Given the description of an element on the screen output the (x, y) to click on. 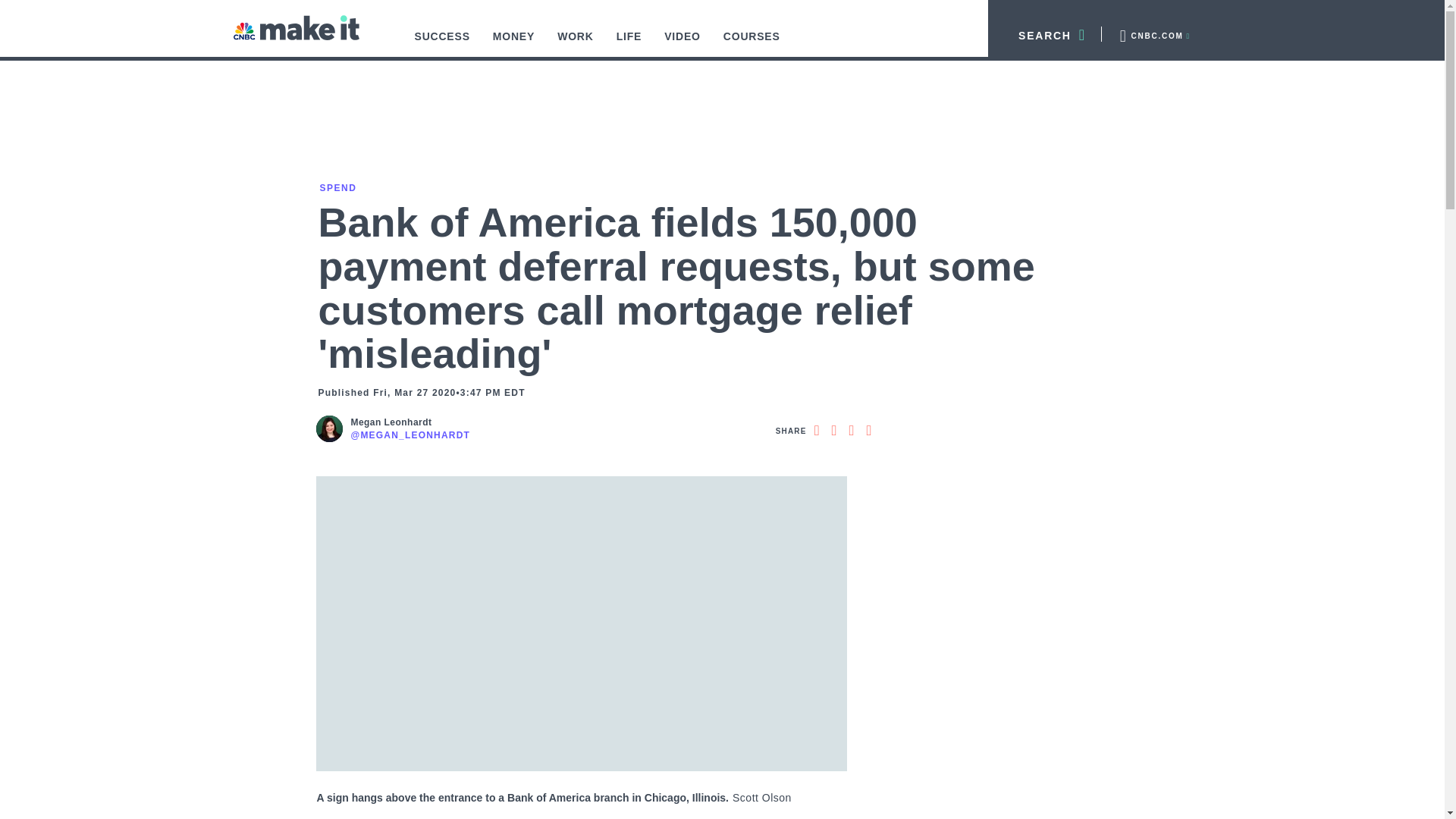
COURSES (751, 44)
Share Article via Twitter (834, 430)
Share Article via LinkedIn (851, 430)
MONEY (513, 44)
Megan Leonhardt (410, 422)
SPEND (336, 187)
Share Article via Email (868, 430)
Share Article via Facebook (816, 430)
SUCCESS (442, 44)
CNBC.COM (1153, 33)
